Given the description of an element on the screen output the (x, y) to click on. 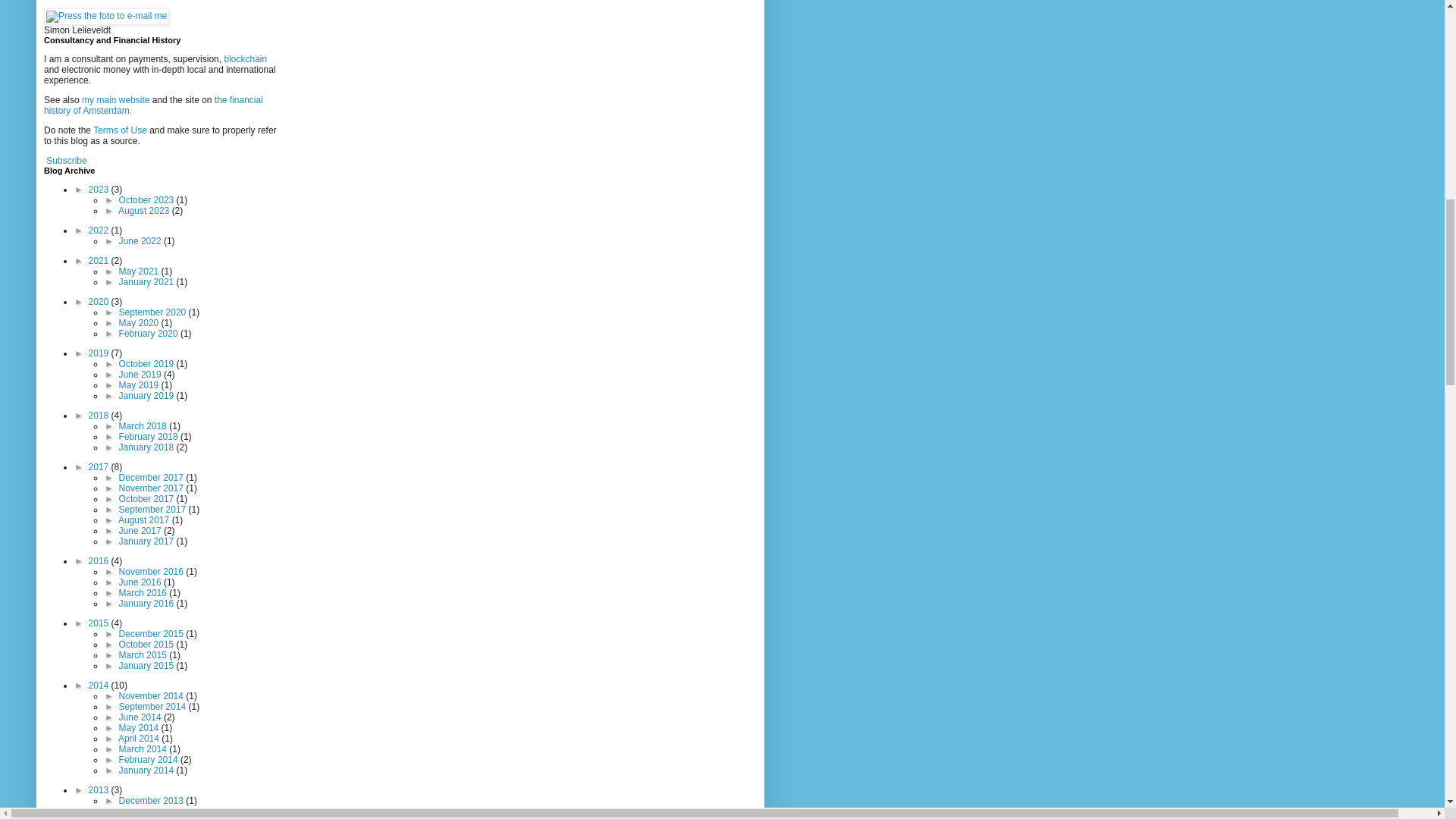
May 2021 (140, 271)
Terms of Use (120, 130)
the financial history of Amsterdam. (153, 105)
August 2023 (144, 210)
blockchain (245, 59)
2022 (100, 230)
my main website (115, 100)
June 2022 (141, 240)
Subscribe (65, 160)
2023 (100, 189)
October 2023 (147, 199)
Subscribe to my feed (65, 160)
2021 (100, 260)
